Given the description of an element on the screen output the (x, y) to click on. 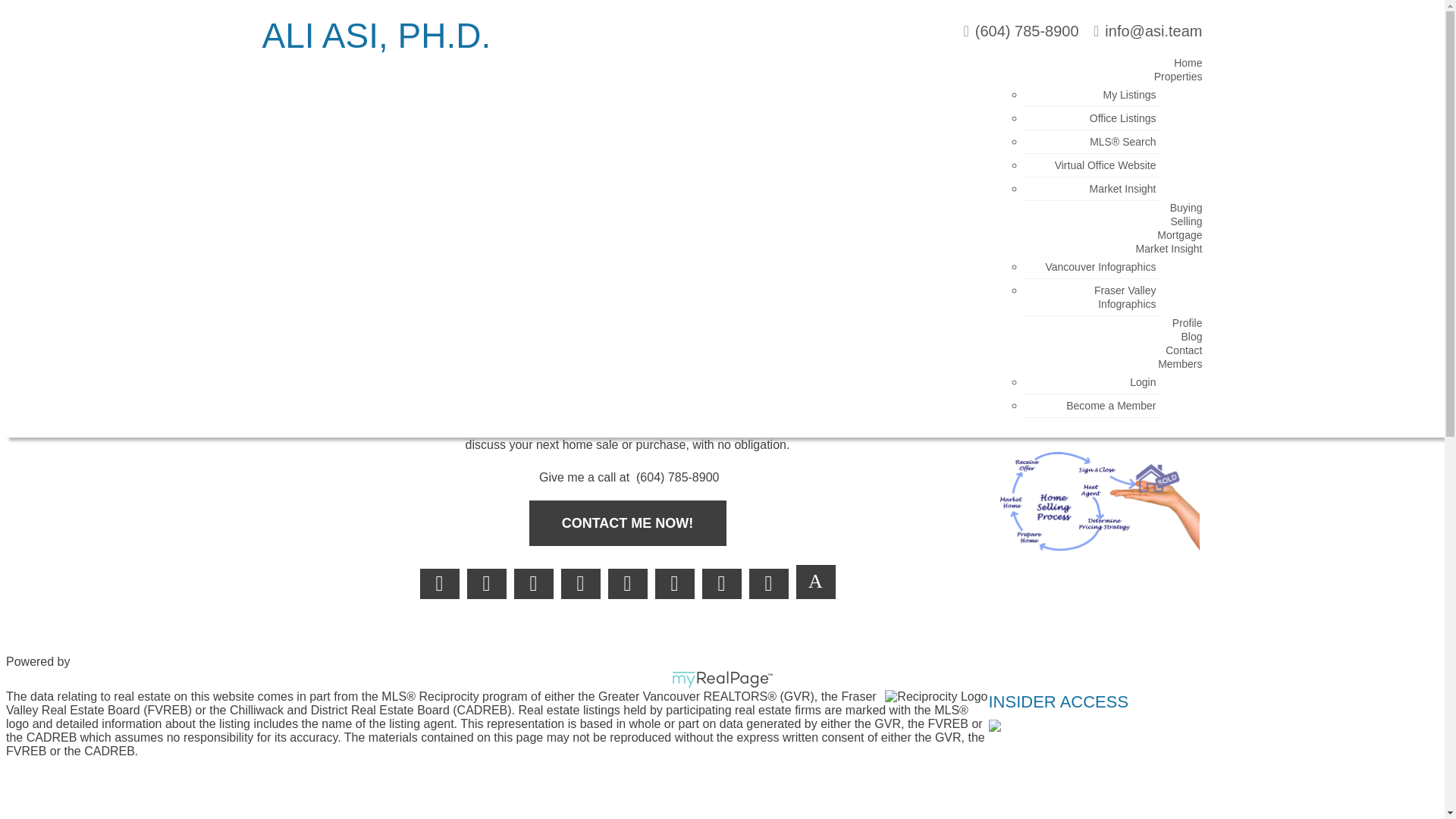
Fraser Valley Infographics (1117, 300)
Contact (1176, 352)
My Listings (1121, 97)
CONTACT ME NOW! (627, 523)
Blog (1184, 339)
Search (1136, 89)
Vancouver Infographics (1092, 270)
Central Lonsdale, North Vancouver Real Estate (432, 302)
Members (1172, 366)
Profile (1179, 325)
